Given the description of an element on the screen output the (x, y) to click on. 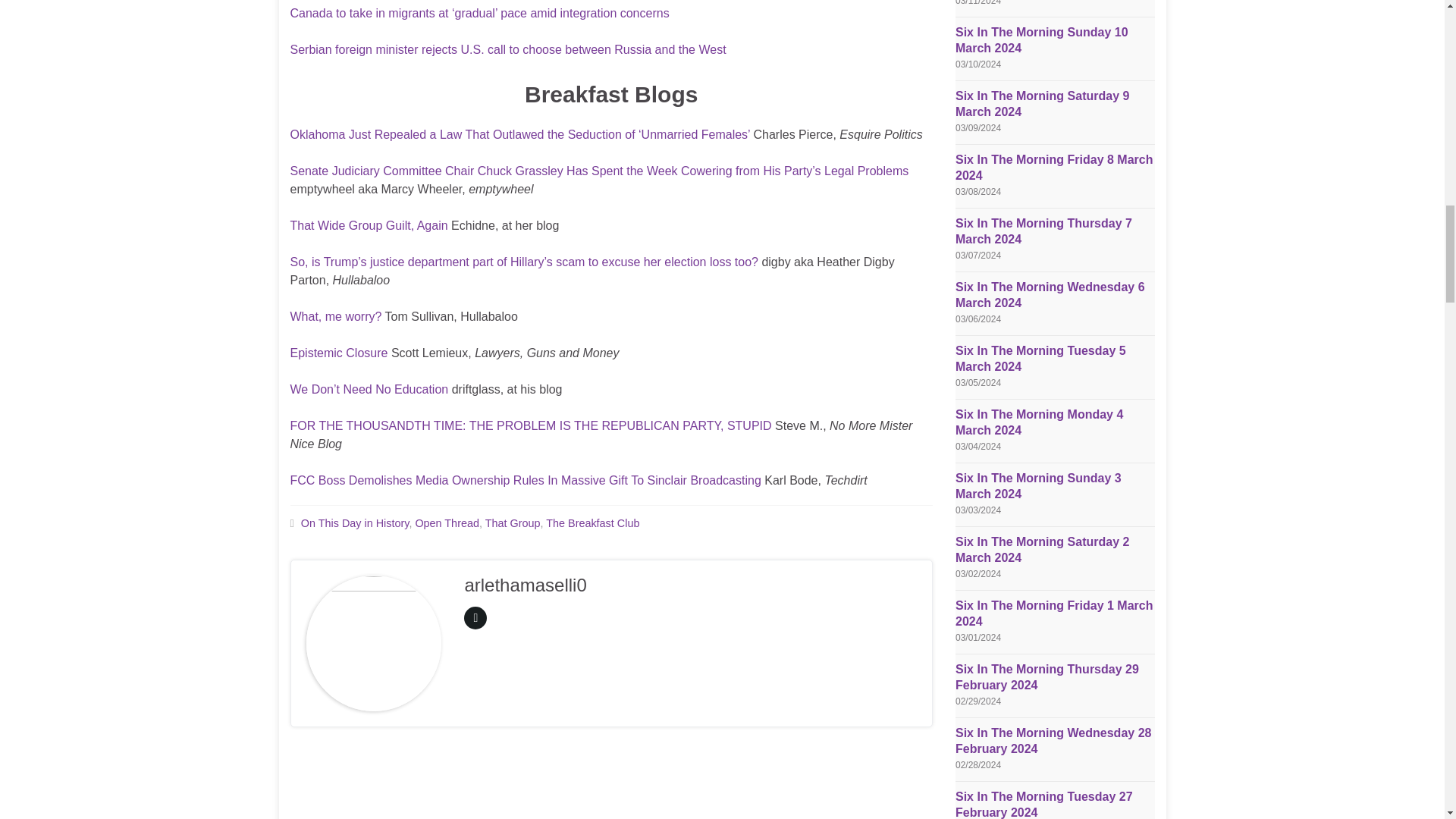
What, me worry? (335, 316)
That Group (512, 522)
On This Day in History (355, 522)
That Wide Group Guilt, Again (367, 225)
Open Thread (446, 522)
Epistemic Closure (338, 352)
The Breakfast Club (592, 522)
